Given the description of an element on the screen output the (x, y) to click on. 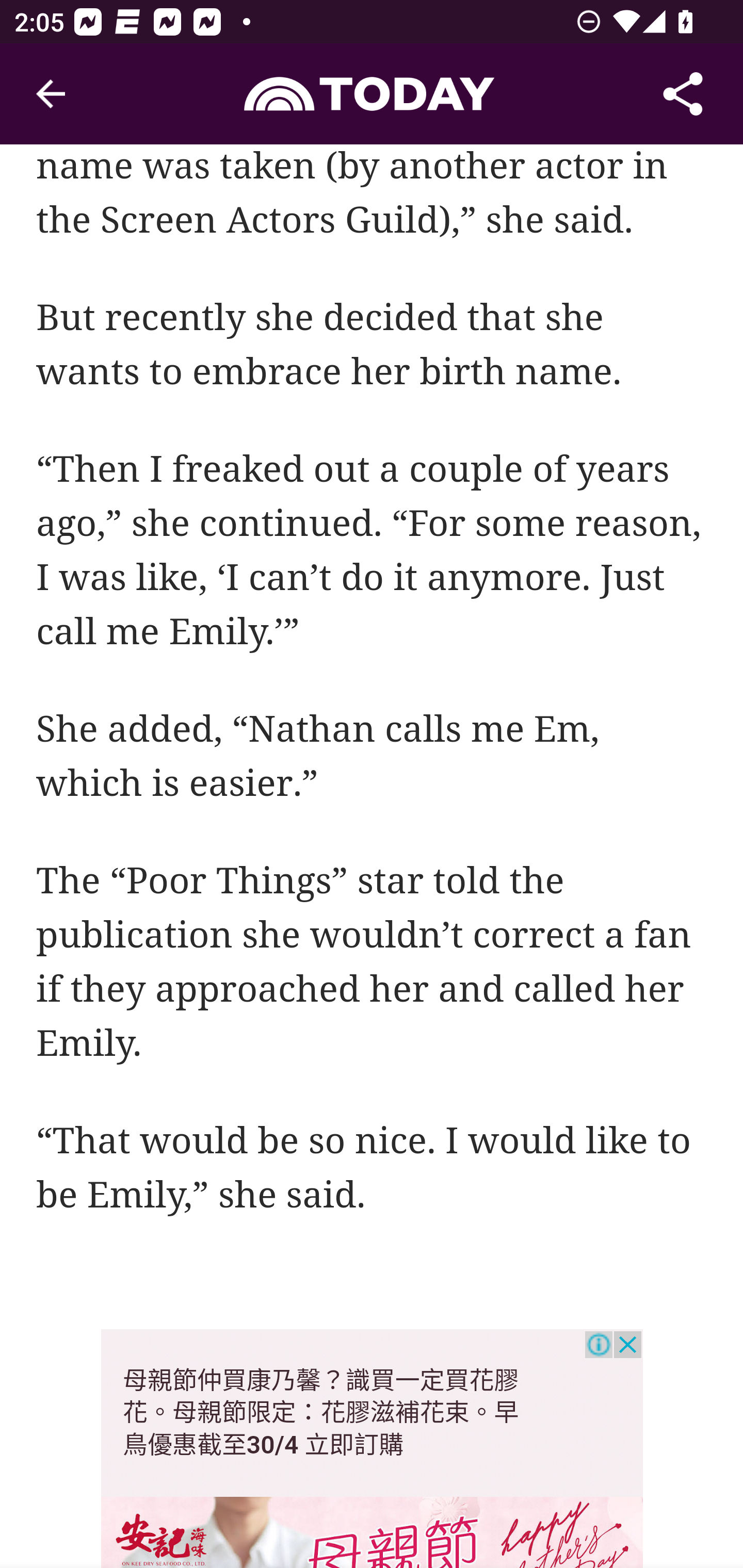
Navigate up (50, 93)
Share Article, button (683, 94)
Header, Today (371, 93)
